Given the description of an element on the screen output the (x, y) to click on. 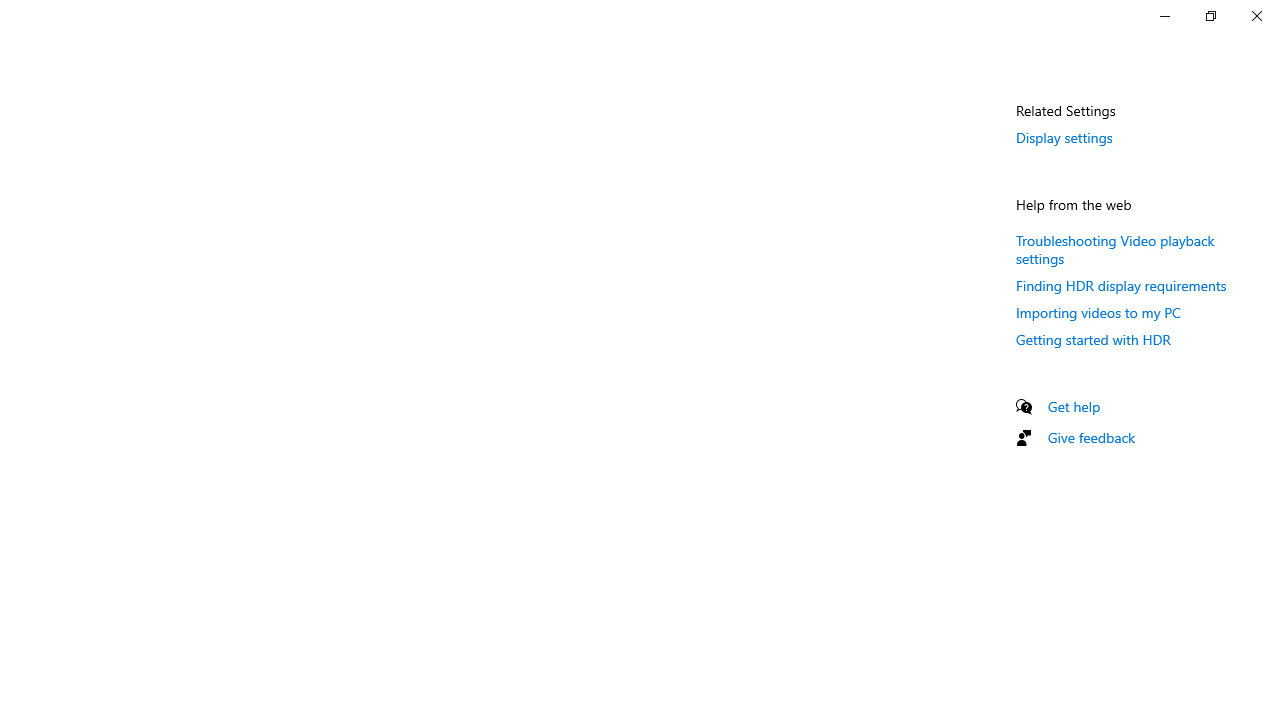
Getting started with HDR (1093, 339)
Give feedback (1091, 437)
Troubleshooting Video playback settings (1115, 248)
Display settings (1064, 137)
Importing videos to my PC (1098, 312)
Finding HDR display requirements (1121, 285)
